Given the description of an element on the screen output the (x, y) to click on. 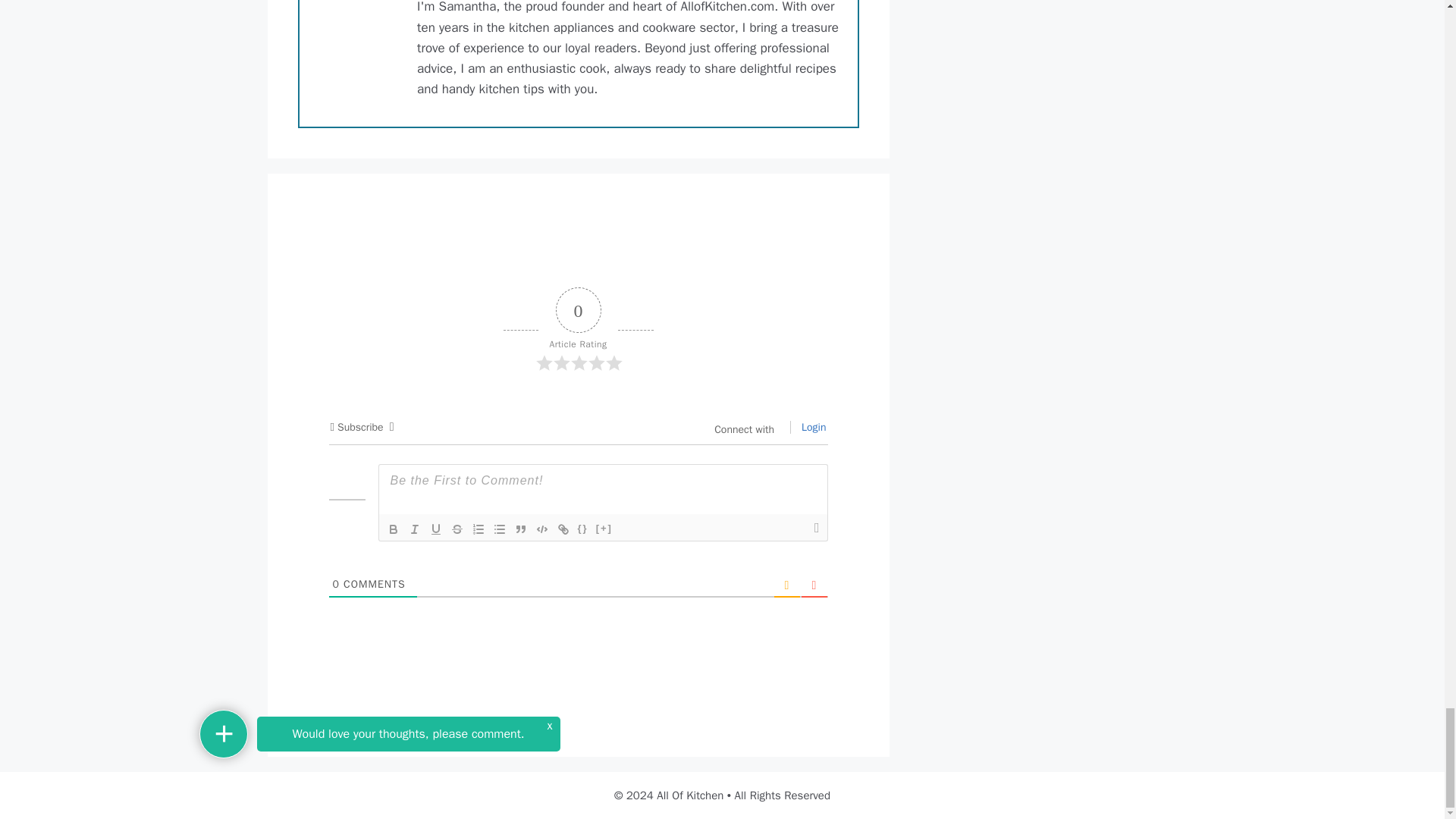
Italic (414, 529)
Source Code (582, 529)
Unordered List (498, 529)
Spoiler (603, 529)
Bold (392, 529)
Blockquote (520, 529)
Ordered List (477, 529)
Underline (435, 529)
Link (562, 529)
Strike (456, 529)
Code Block (541, 529)
